Given the description of an element on the screen output the (x, y) to click on. 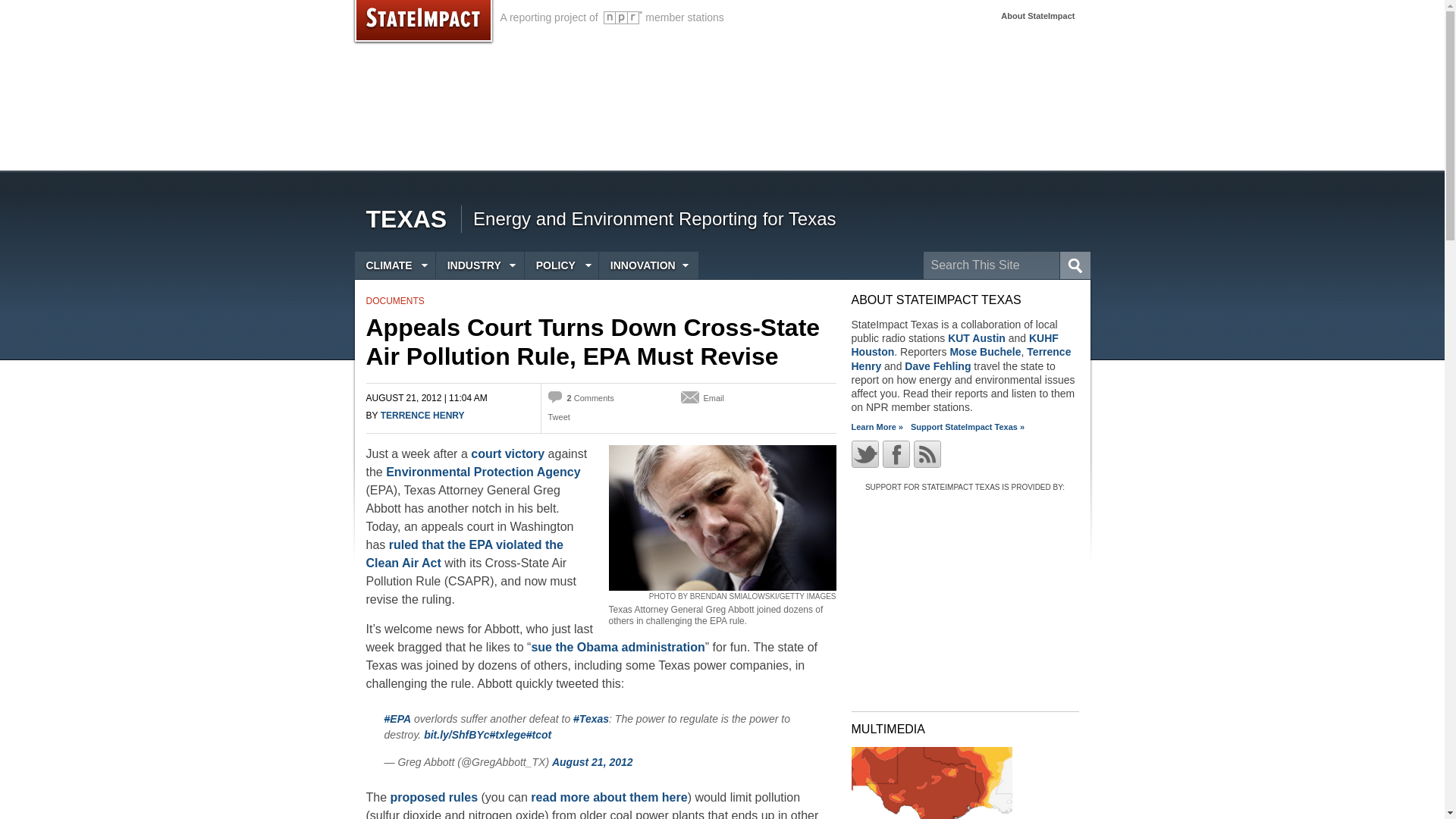
POLICY (561, 265)
Follow us on Twitter (863, 453)
Follow us on Facebook (896, 453)
TEXAS (405, 218)
CLIMATE (395, 265)
House Holds Hearing On The Energy Tax Prevention Act of 2011 (721, 517)
INNOVATION (648, 265)
StateImpact (422, 22)
DOCUMENTS (394, 300)
Posts by Terrence Henry (422, 415)
StateImpact (422, 22)
INDUSTRY (479, 265)
Subscribe with RSS (926, 453)
Visit npr.org (623, 17)
NPR (623, 17)
